Given the description of an element on the screen output the (x, y) to click on. 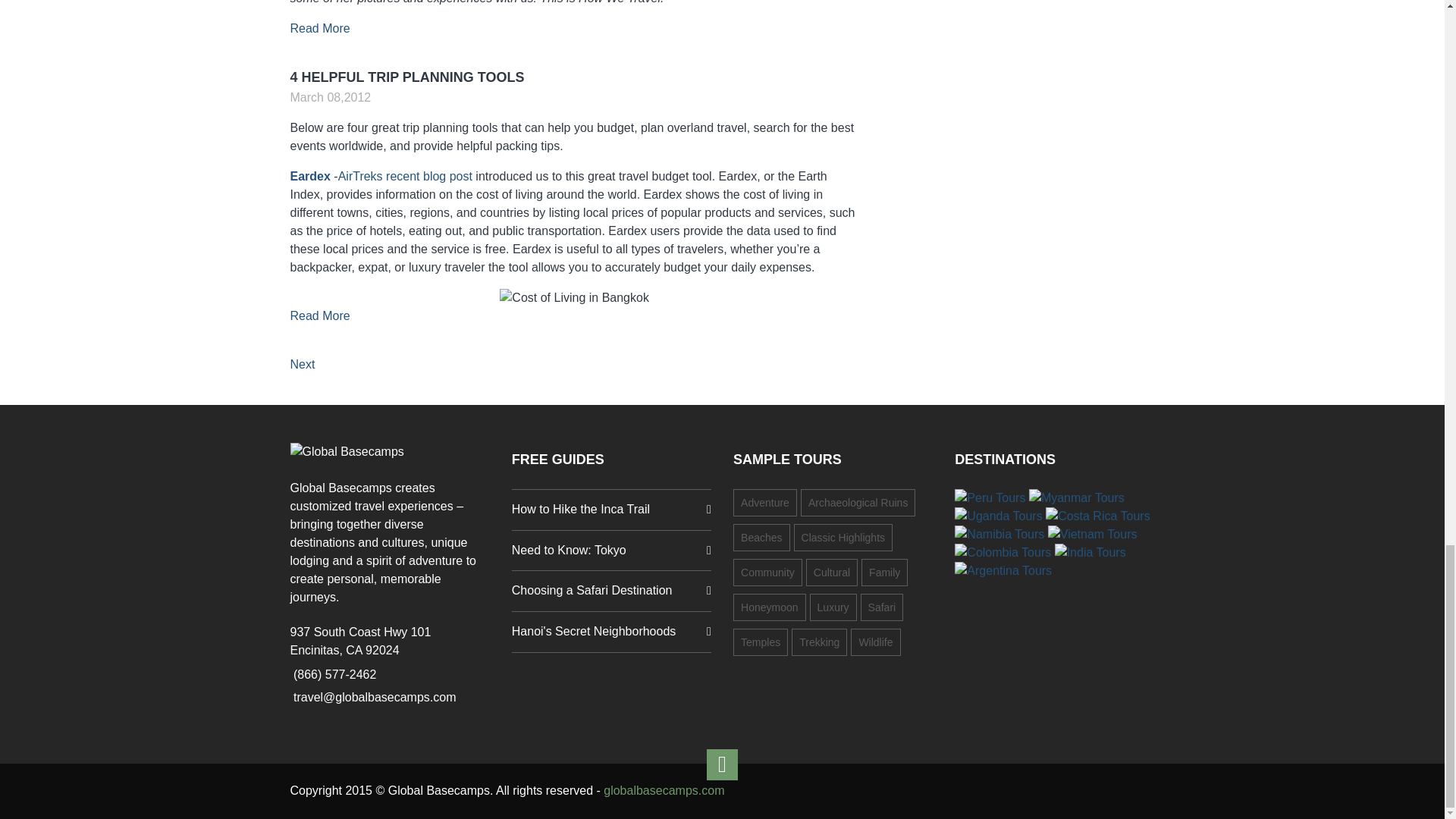
Hanoi's Secret Neighborhoods (611, 631)
How to Hike the Inca Trail (611, 509)
Choosing a Safari Destination (611, 590)
Cost of Living in Bangkok (574, 298)
Best New Travel Budget Planning Tool-Eardex (404, 175)
Need to Know: Tokyo (611, 550)
Eardex (309, 175)
